Given the description of an element on the screen output the (x, y) to click on. 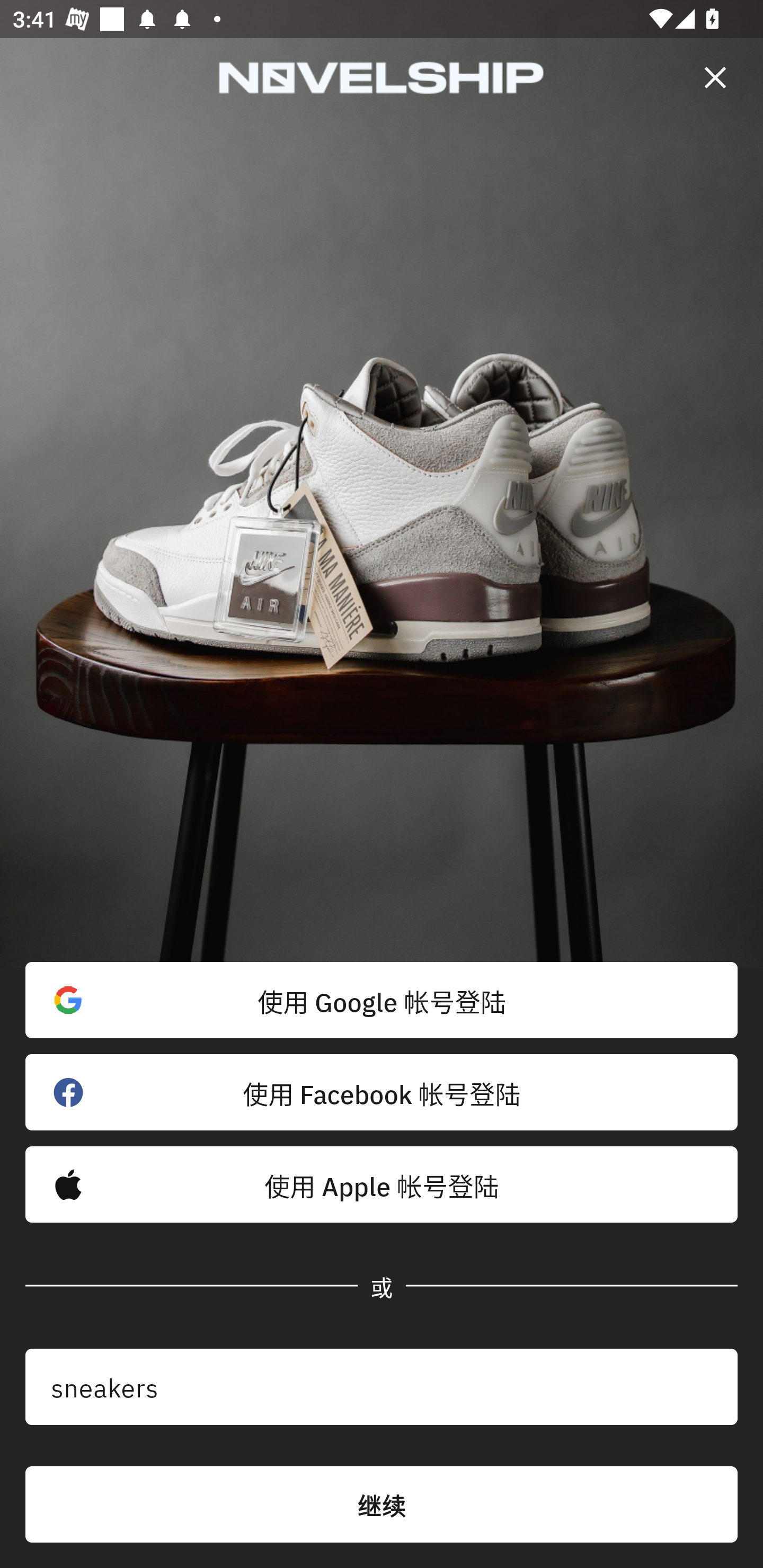
使用 Google 帐号登陆 (381, 1000)
使用 Facebook 帐号登陆 󰈌 (381, 1091)
 使用 Apple 帐号登陆 (381, 1184)
sneakers (381, 1386)
继续 (381, 1504)
